Given the description of an element on the screen output the (x, y) to click on. 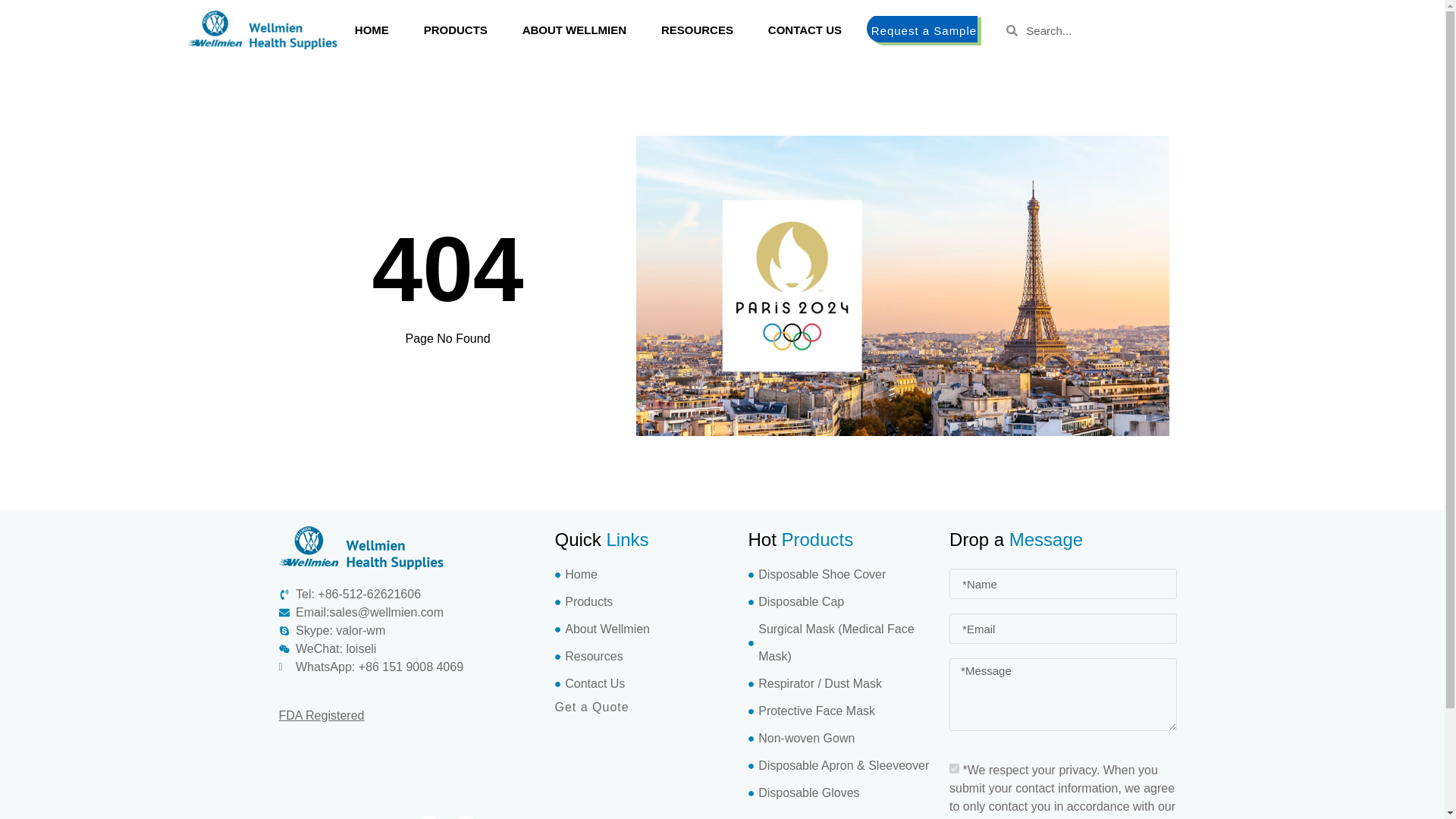
ABOUT WELLMIEN (574, 30)
PRODUCTS (455, 30)
on (954, 768)
HOME (371, 30)
